Given the description of an element on the screen output the (x, y) to click on. 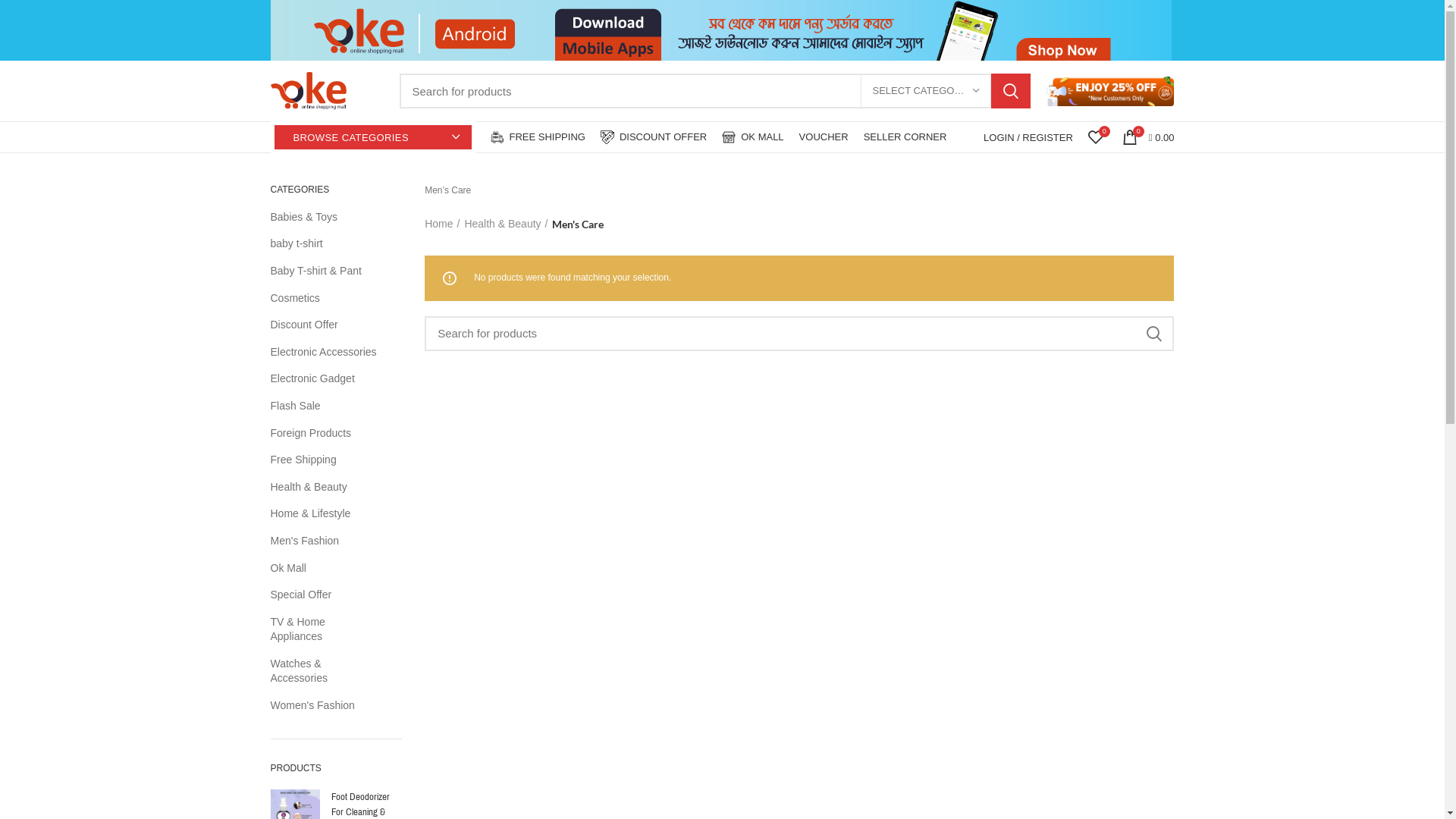
SELECT CATEGORY Element type: text (924, 90)
OK MALL Element type: text (752, 137)
Babies & Toys Element type: text (325, 217)
FREE SHIPPING Element type: text (537, 137)
DISCOUNT OFFER Element type: text (653, 137)
Home Element type: text (441, 224)
Men's Fashion Element type: text (325, 541)
Watches & Accessories Element type: text (325, 671)
Search for products Element type: hover (798, 333)
TV & Home Appliances Element type: text (325, 629)
Ok Mall Element type: text (325, 568)
Home & Lifestyle Element type: text (325, 513)
VOUCHER Element type: text (823, 137)
0 Element type: text (1095, 137)
baby t-shirt Element type: text (325, 243)
Health & Beauty Element type: text (325, 487)
Electronic Accessories Element type: text (325, 352)
Cosmetics Element type: text (325, 298)
Special Offer Element type: text (325, 594)
SELLER CORNER Element type: text (905, 137)
Free Shipping Element type: text (325, 459)
Flash Sale Element type: text (325, 406)
Foreign Products Element type: text (325, 433)
Electronic Gadget Element type: text (325, 378)
Baby T-shirt & Pant Element type: text (325, 271)
Health & Beauty Element type: text (505, 224)
SEARCH Element type: text (1153, 333)
Women's Fashion Element type: text (325, 705)
SEARCH Element type: text (1009, 90)
Search for products Element type: hover (713, 90)
LOGIN / REGISTER Element type: text (1027, 137)
Discount Offer Element type: text (325, 324)
